Given the description of an element on the screen output the (x, y) to click on. 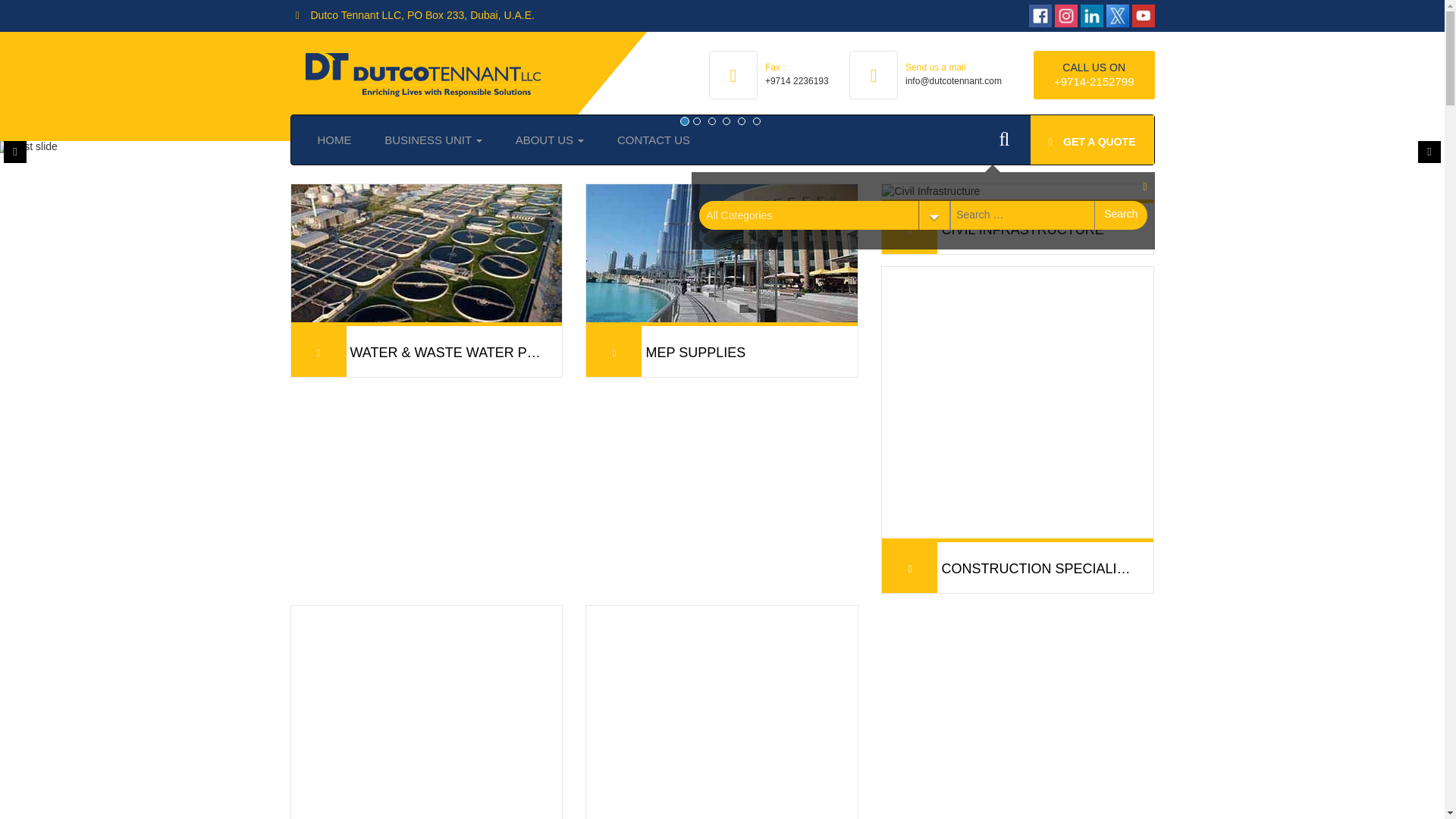
YouTube (1127, 15)
Twitter (1086, 15)
Search (1120, 215)
Instagram (1034, 15)
LinkedIn (1060, 15)
BUSINESS UNIT (433, 140)
Facebook (1008, 15)
HOME (333, 140)
